Given the description of an element on the screen output the (x, y) to click on. 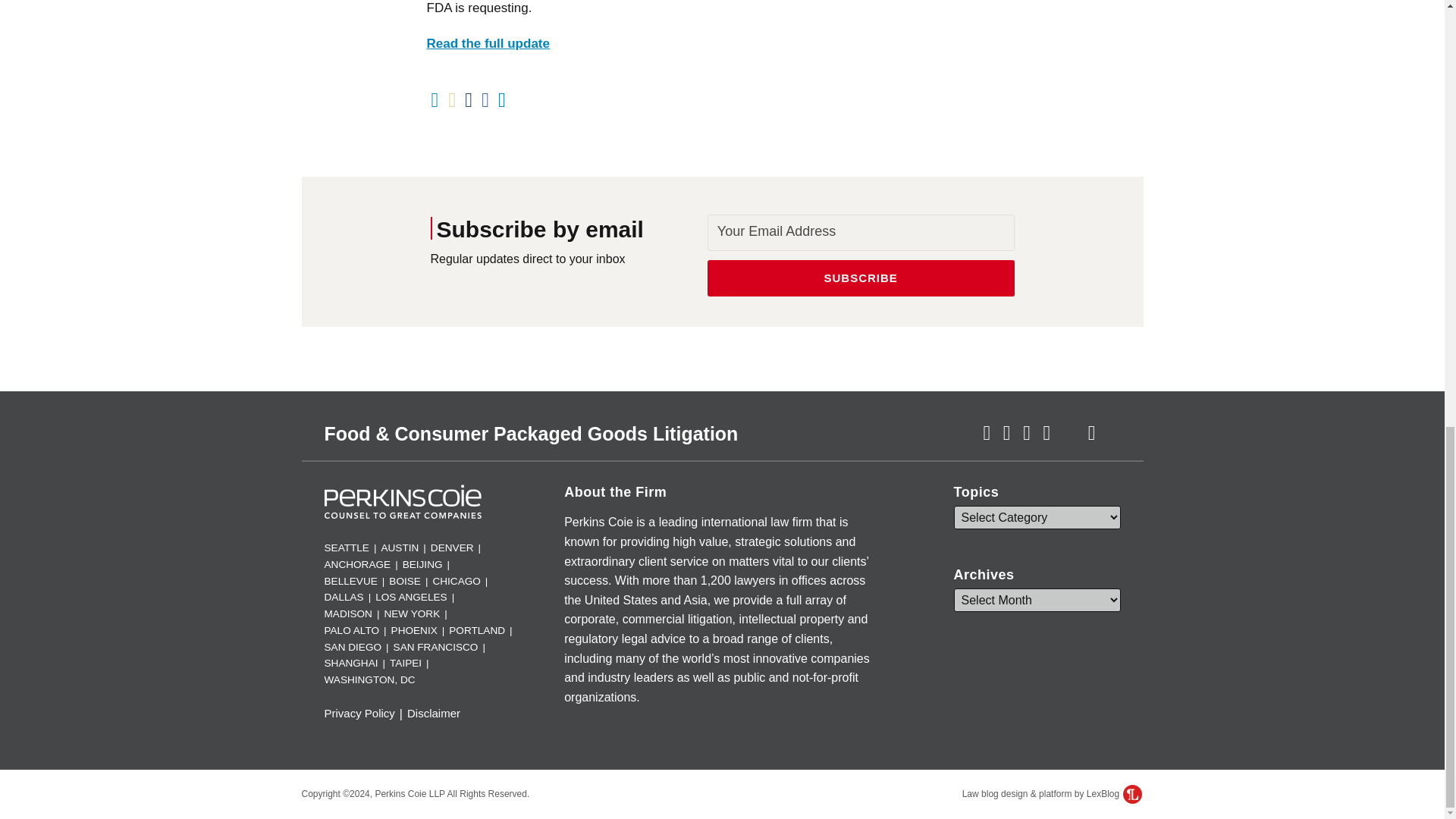
Subscribe (860, 278)
Read the full update (487, 43)
Subscribe (860, 278)
LexBlog Logo (1131, 793)
